Given the description of an element on the screen output the (x, y) to click on. 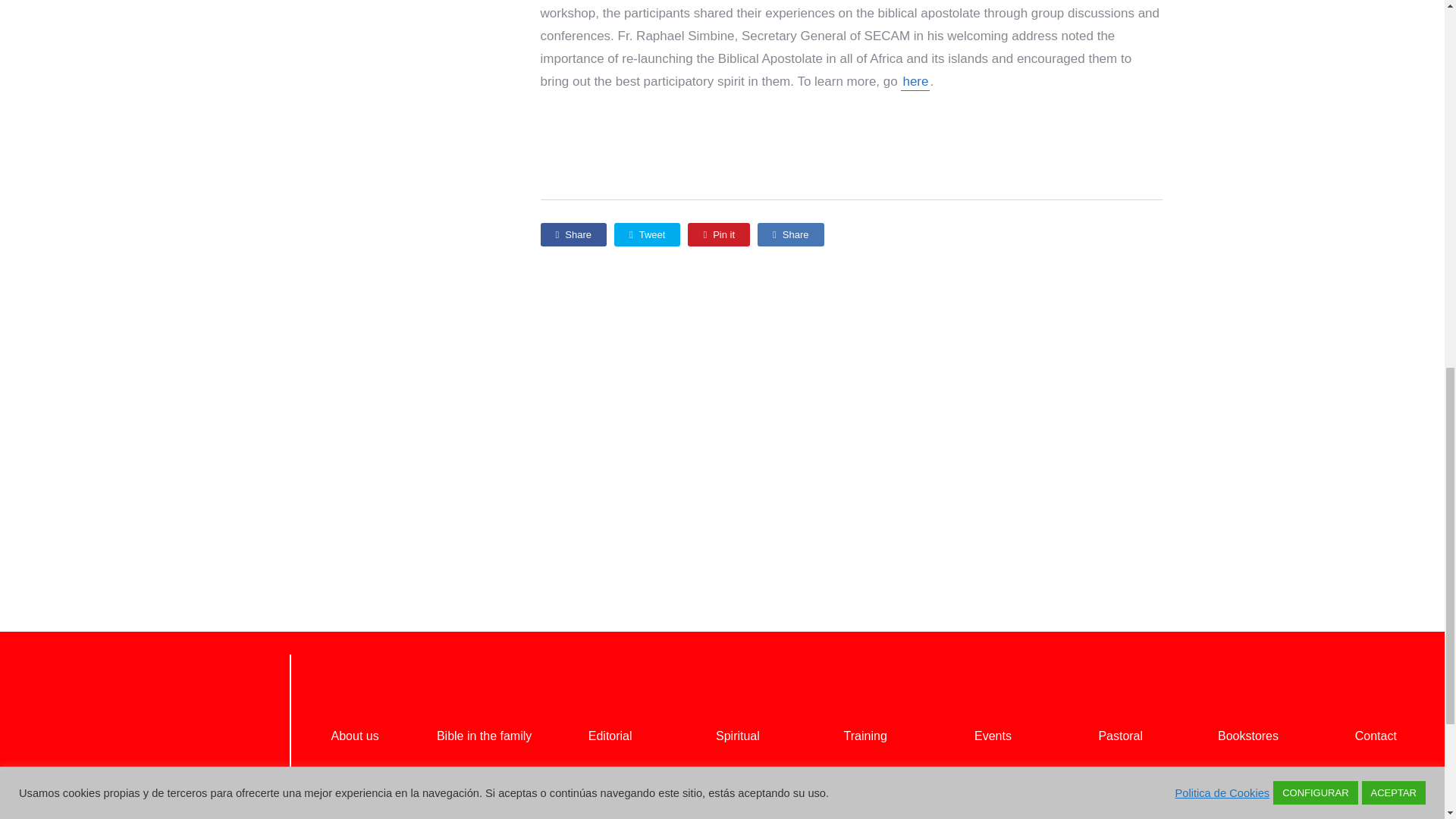
Share (572, 234)
Tweet (646, 234)
here (915, 82)
Pin it (718, 234)
Share (790, 234)
